Given the description of an element on the screen output the (x, y) to click on. 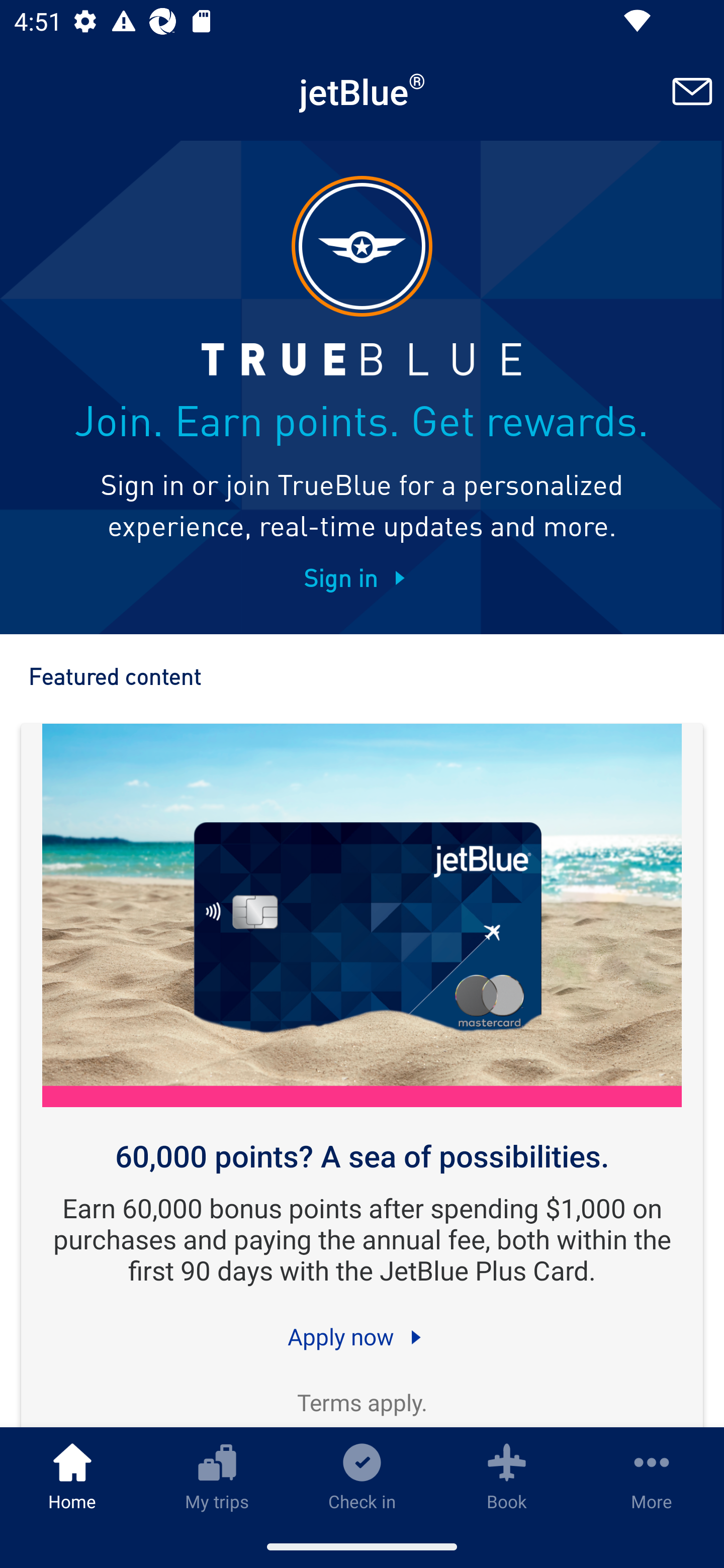
Apply now (361, 1336)
My trips (216, 1475)
Check in (361, 1475)
Book (506, 1475)
More (651, 1475)
